Given the description of an element on the screen output the (x, y) to click on. 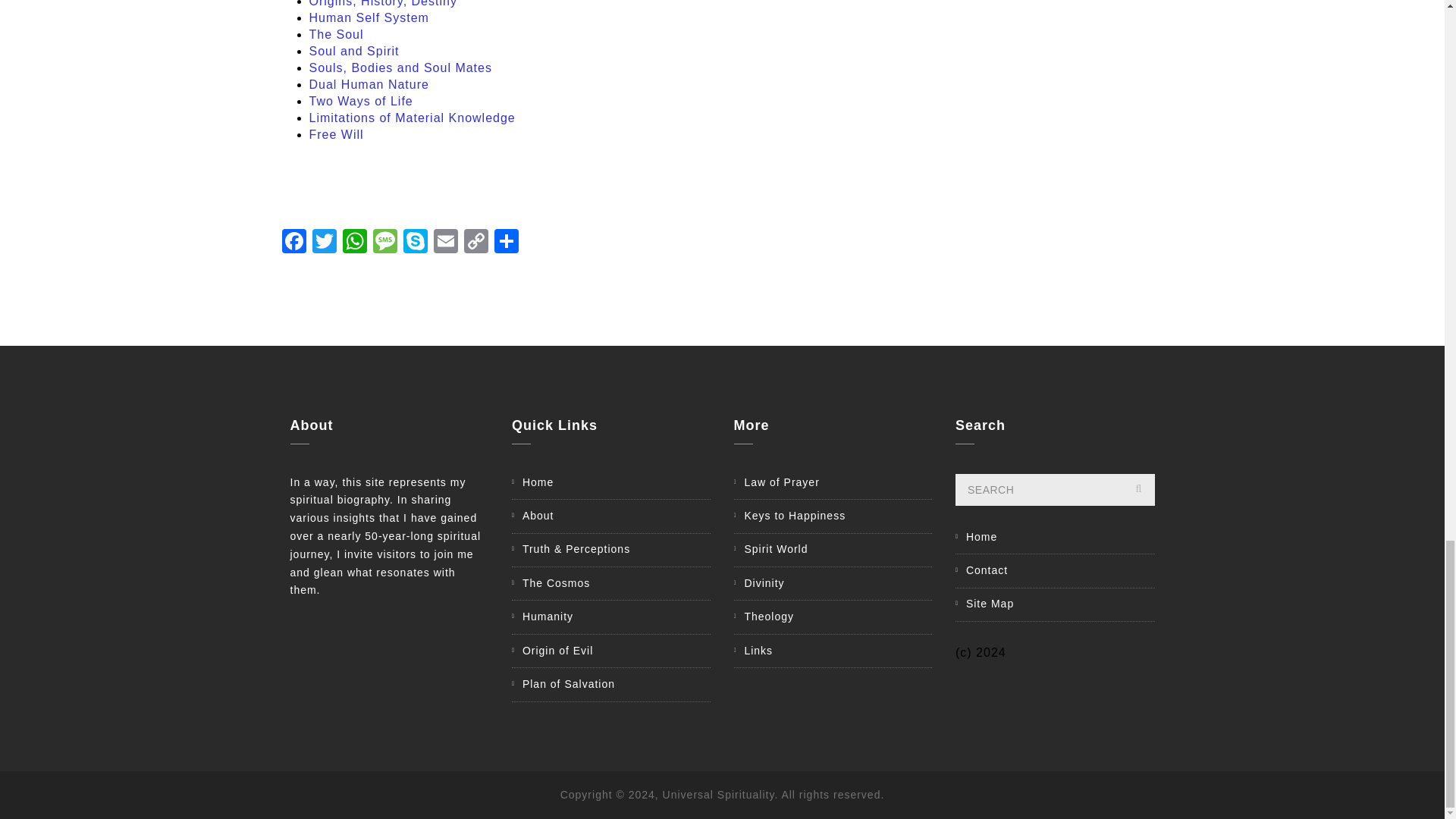
WhatsApp (354, 243)
Email (445, 243)
Copy Link (476, 243)
Facebook (293, 243)
Skype (415, 243)
Message (384, 243)
Twitter (323, 243)
